Given the description of an element on the screen output the (x, y) to click on. 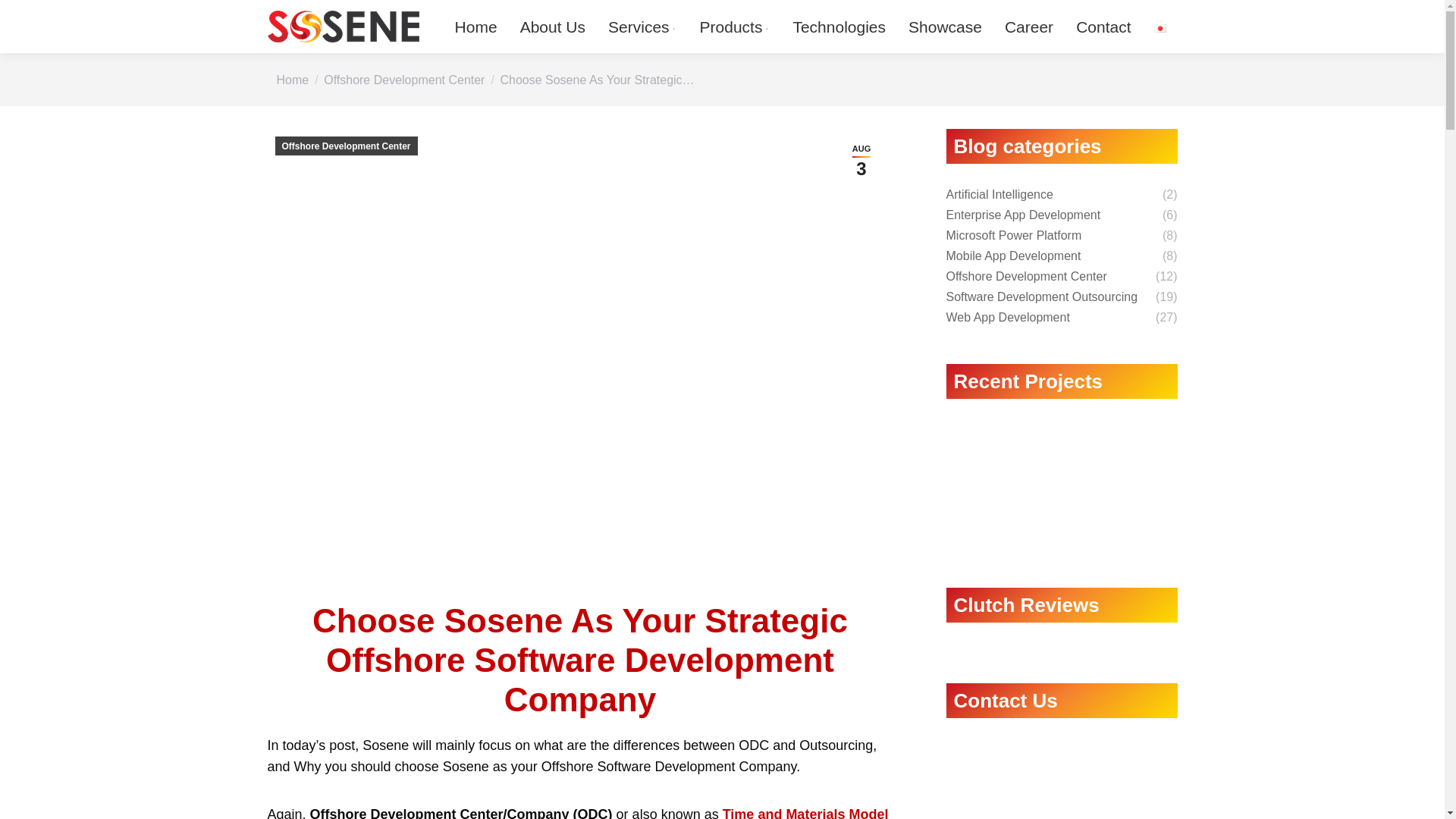
Services (642, 26)
Home (476, 26)
Technologies (838, 26)
Offshore Development Center (403, 78)
Showcase (944, 26)
Career (861, 160)
Offshore Development Center (1028, 26)
Time and Materials Model (403, 78)
Contact (805, 812)
Home (1102, 26)
11:01 am (292, 78)
Products (861, 160)
Offshore Development Center (734, 26)
Home (345, 145)
